Given the description of an element on the screen output the (x, y) to click on. 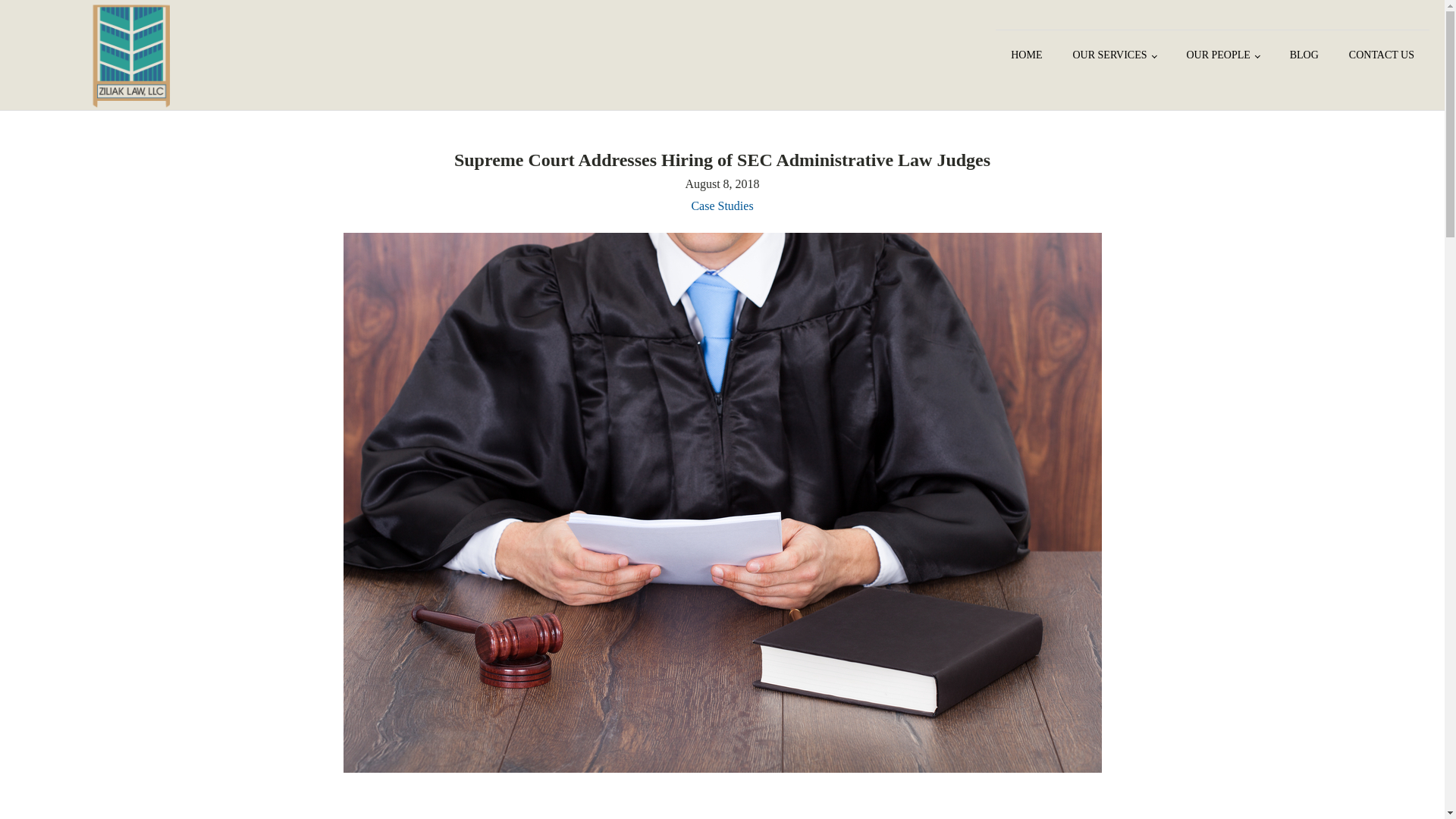
HOME (1026, 54)
BLOG (1304, 54)
Contact Us (1381, 54)
Case Studies (721, 205)
OUR PEOPLE (1222, 54)
OUR SERVICES (1113, 54)
CONTACT US (1381, 54)
